Given the description of an element on the screen output the (x, y) to click on. 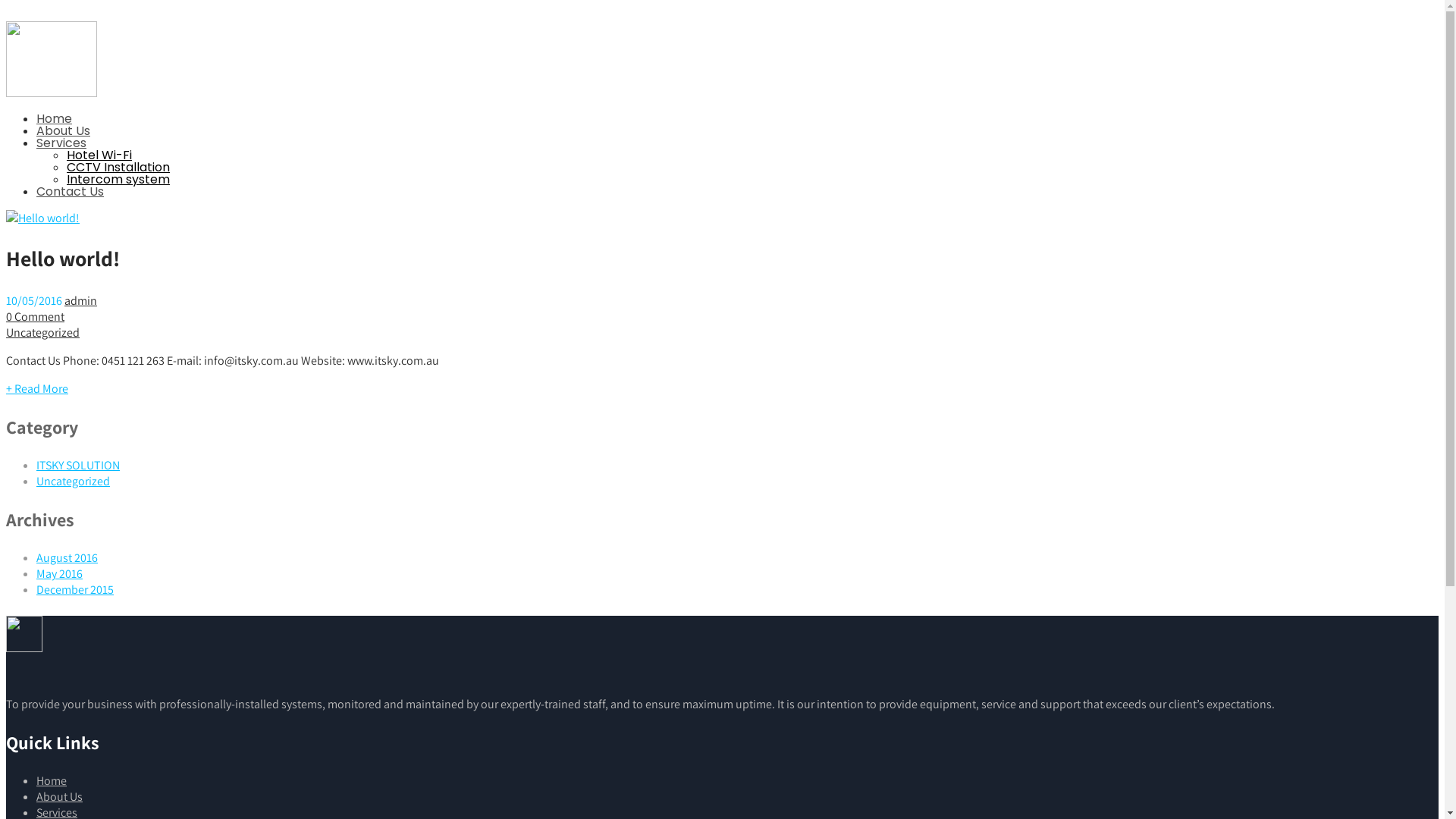
admin Element type: text (80, 300)
Contact Us Element type: text (69, 191)
ITSKY SOLUTION Element type: text (77, 465)
10/05/2016 Element type: text (34, 300)
August 2016 Element type: text (66, 557)
Home Element type: text (54, 118)
Uncategorized Element type: text (42, 332)
Services Element type: text (61, 142)
December 2015 Element type: text (74, 589)
CCTV Installation Element type: text (117, 166)
Intercom system Element type: text (117, 179)
May 2016 Element type: text (59, 573)
ITSKY Element type: hover (51, 92)
About Us Element type: text (63, 130)
+ Read More Element type: text (37, 388)
Uncategorized Element type: text (72, 481)
About Us Element type: text (59, 796)
Hello world! Element type: text (62, 258)
Home Element type: text (51, 780)
Hotel Wi-Fi Element type: text (98, 154)
0 Comment Element type: text (35, 316)
